Given the description of an element on the screen output the (x, y) to click on. 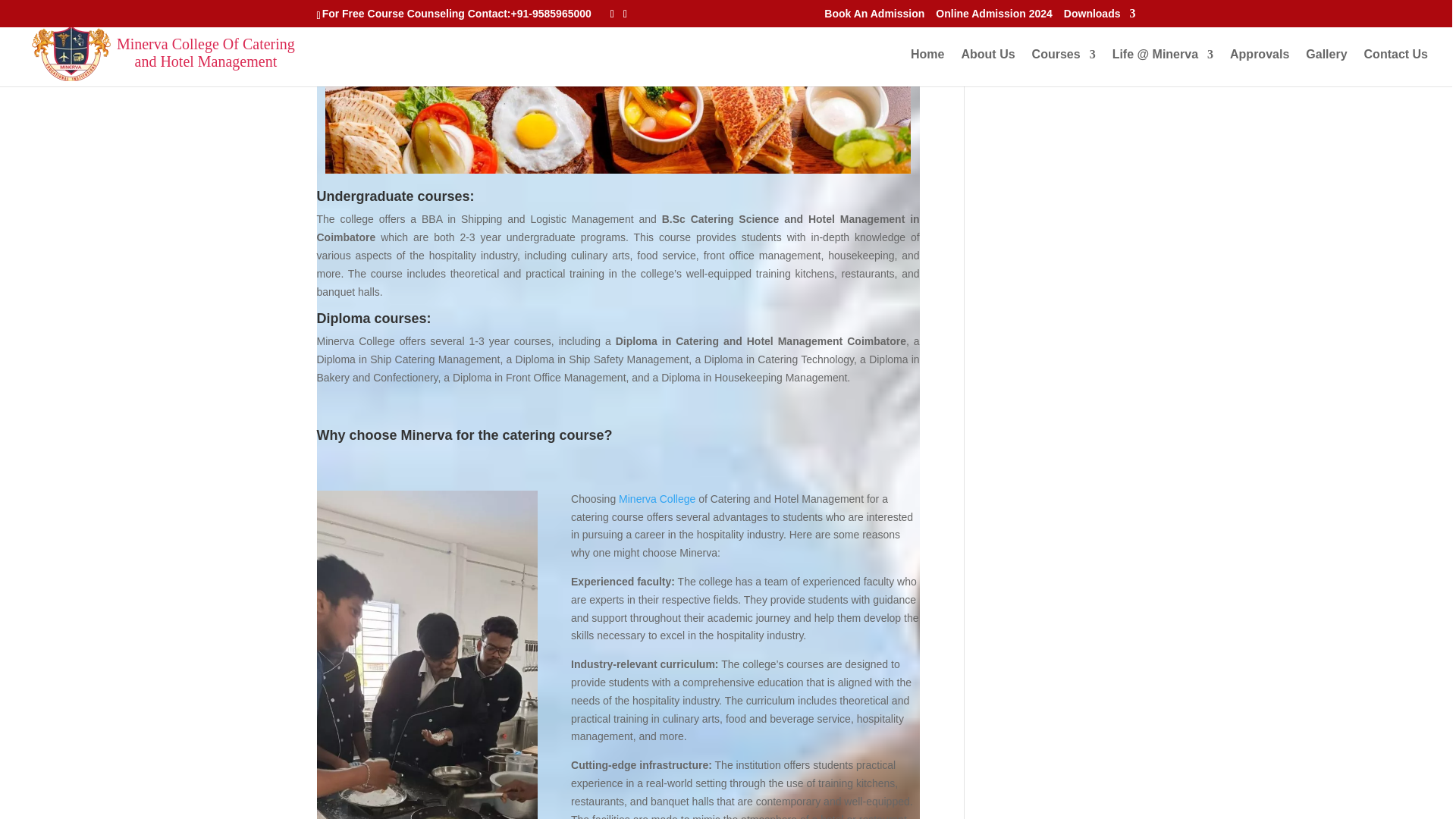
Catering colleges in Coimbatore (617, 86)
